Given the description of an element on the screen output the (x, y) to click on. 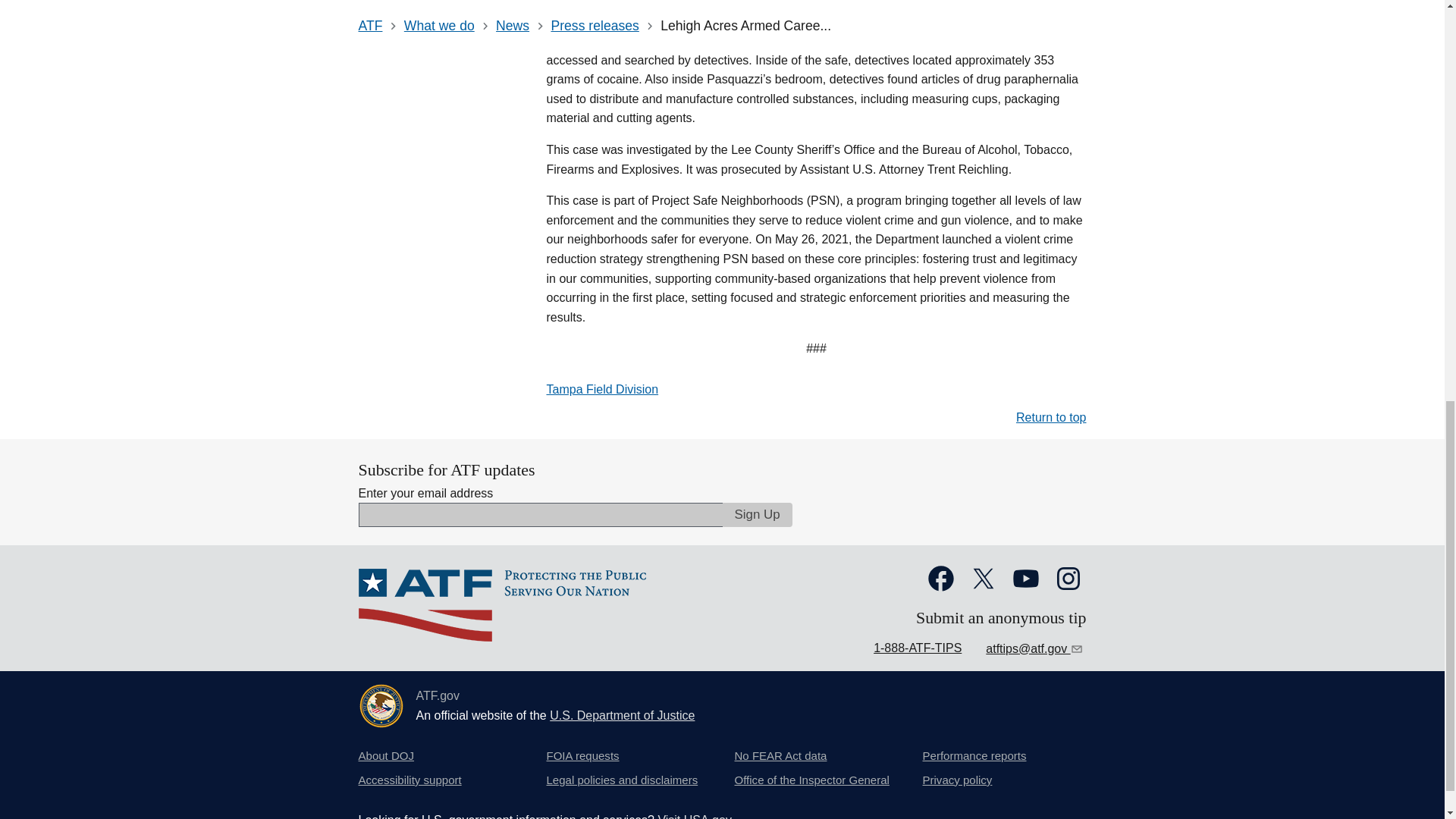
FOIA requests (582, 755)
Office of the Inspector General (810, 780)
Privacy policy (956, 780)
Tampa Field Division (602, 389)
Visit USA.gov (695, 815)
U.S. Department of Justice (622, 715)
No FEAR Act data (780, 755)
Return to top (1051, 417)
About DOJ (385, 755)
Performance reports (973, 755)
